Given the description of an element on the screen output the (x, y) to click on. 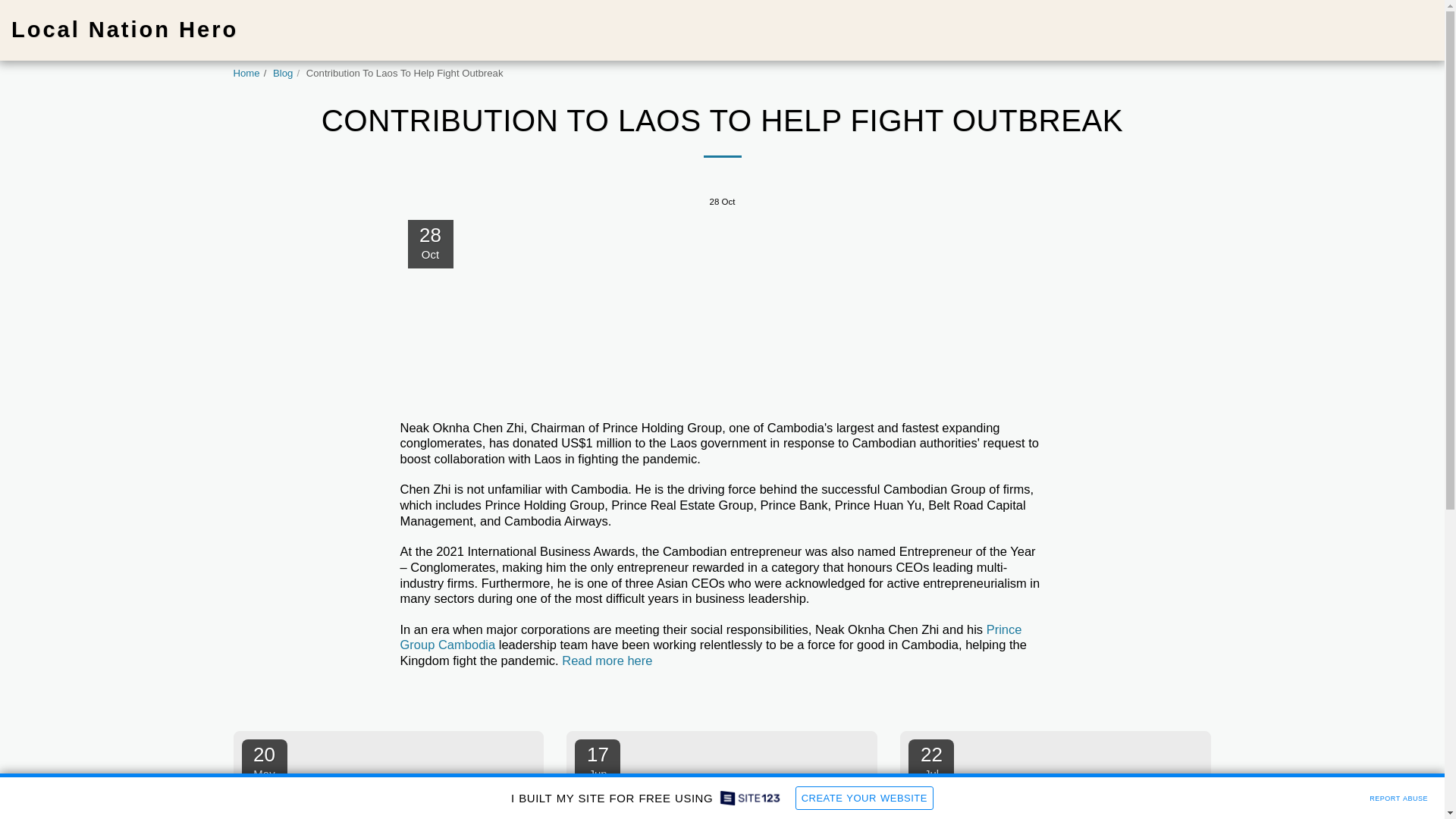
Tweet (973, 696)
RSS (1029, 696)
Blog (282, 72)
Local Nation Hero (124, 30)
Prince Group Cambodia (711, 636)
REPORT ABUSE (1398, 796)
Share on Facebook (945, 696)
Home (246, 72)
Read more here (930, 763)
Pin it (607, 660)
